Given the description of an element on the screen output the (x, y) to click on. 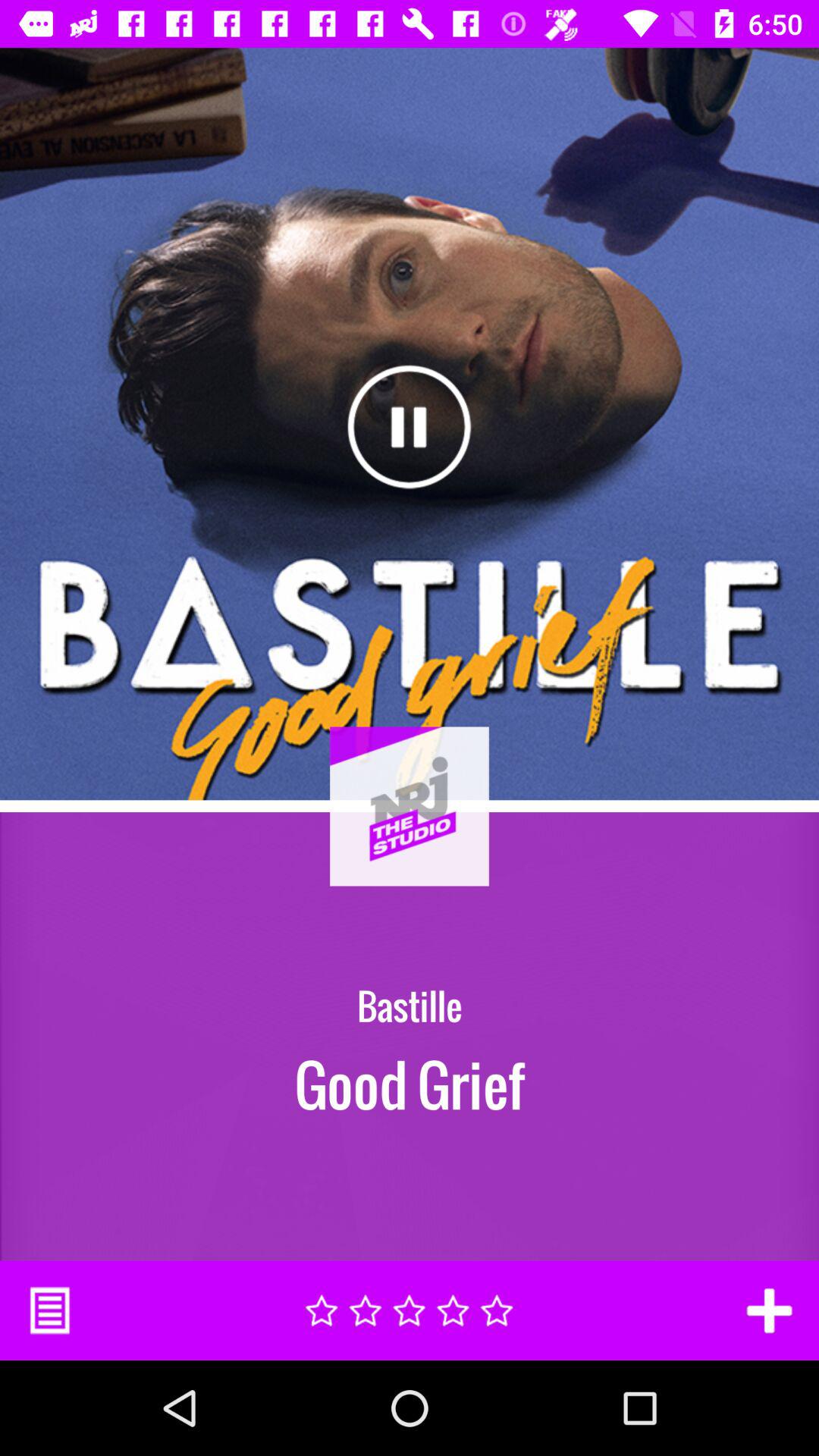
turn off item above bastille icon (409, 845)
